Given the description of an element on the screen output the (x, y) to click on. 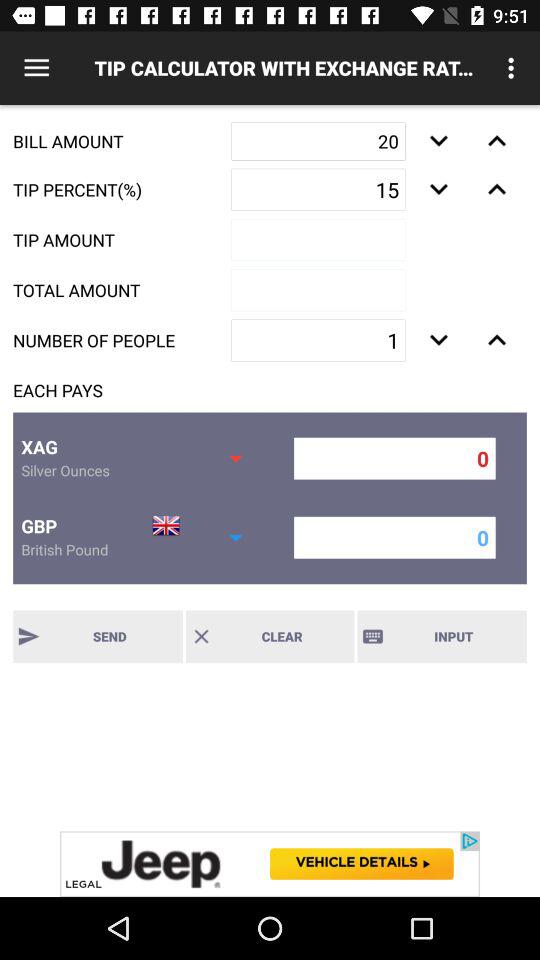
click to increasing number (438, 189)
